Given the description of an element on the screen output the (x, y) to click on. 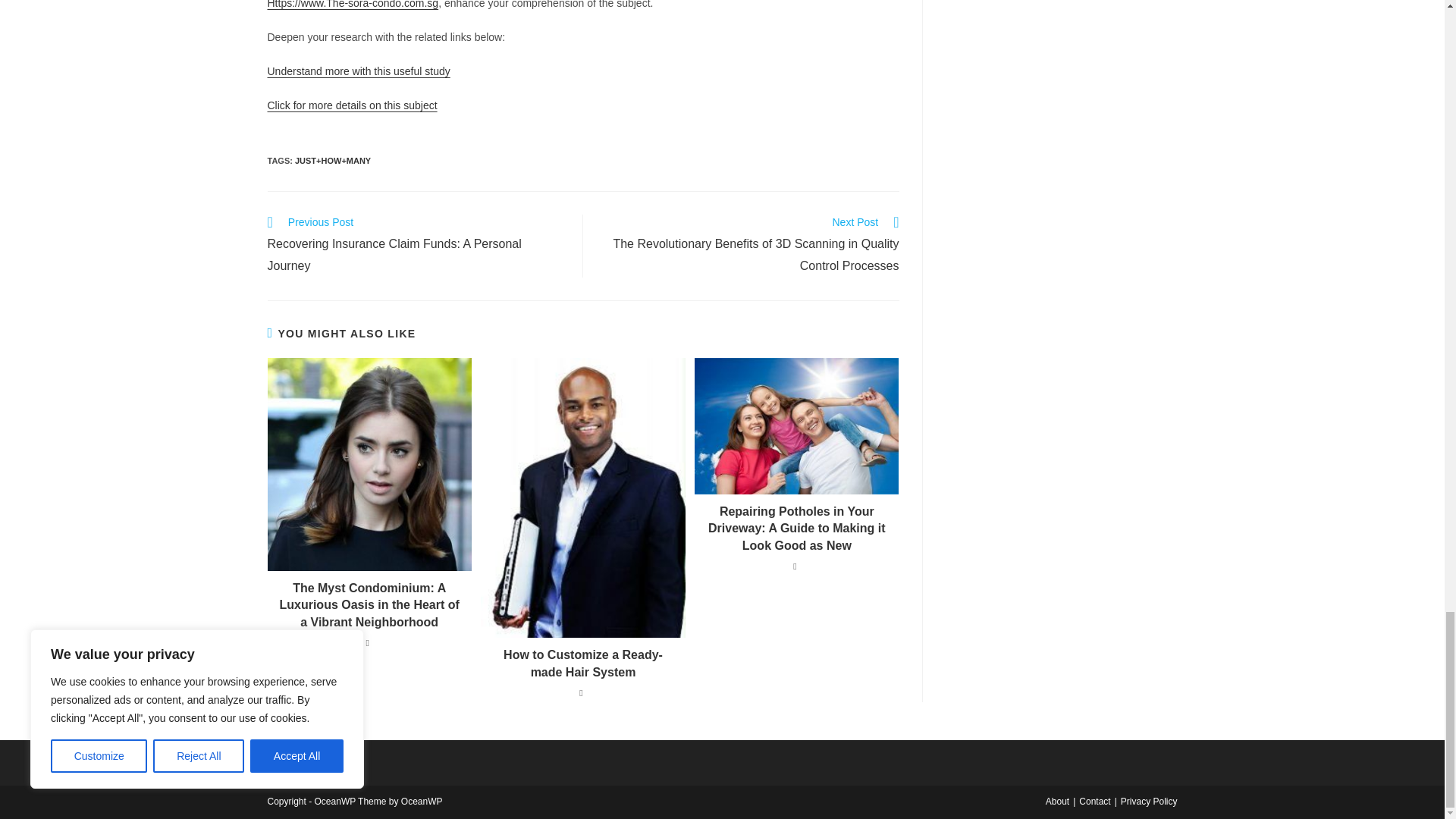
Understand more with this useful study (357, 70)
Click for more details on this subject (351, 105)
